Given the description of an element on the screen output the (x, y) to click on. 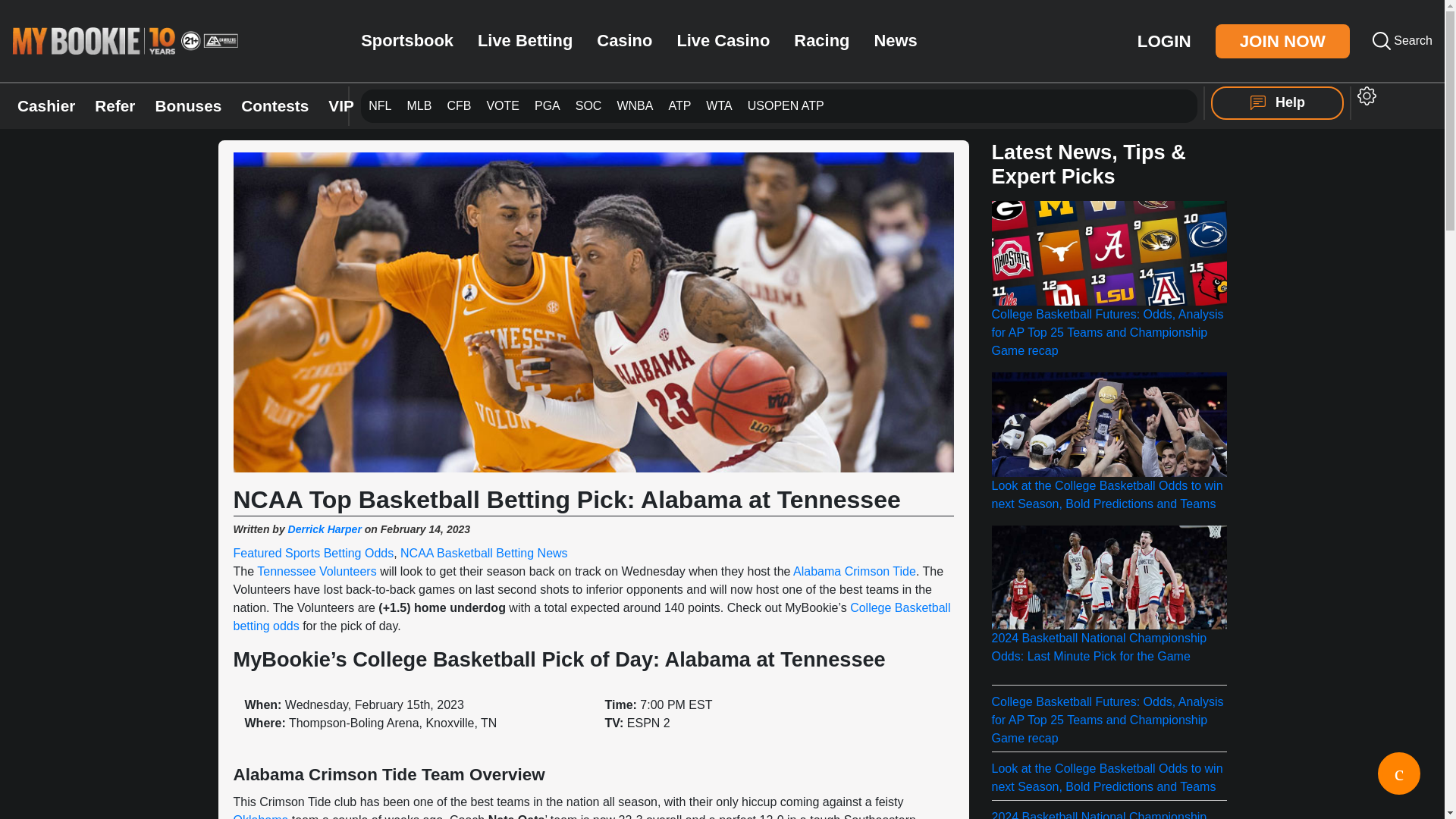
WNBA (778, 105)
USOPEN ATP (634, 105)
NFL (786, 105)
ATP (379, 105)
USOPEN ATP (679, 105)
JOIN NOW (786, 105)
Bonuses (1282, 41)
LOGIN (187, 106)
Cashier (1164, 40)
